Given the description of an element on the screen output the (x, y) to click on. 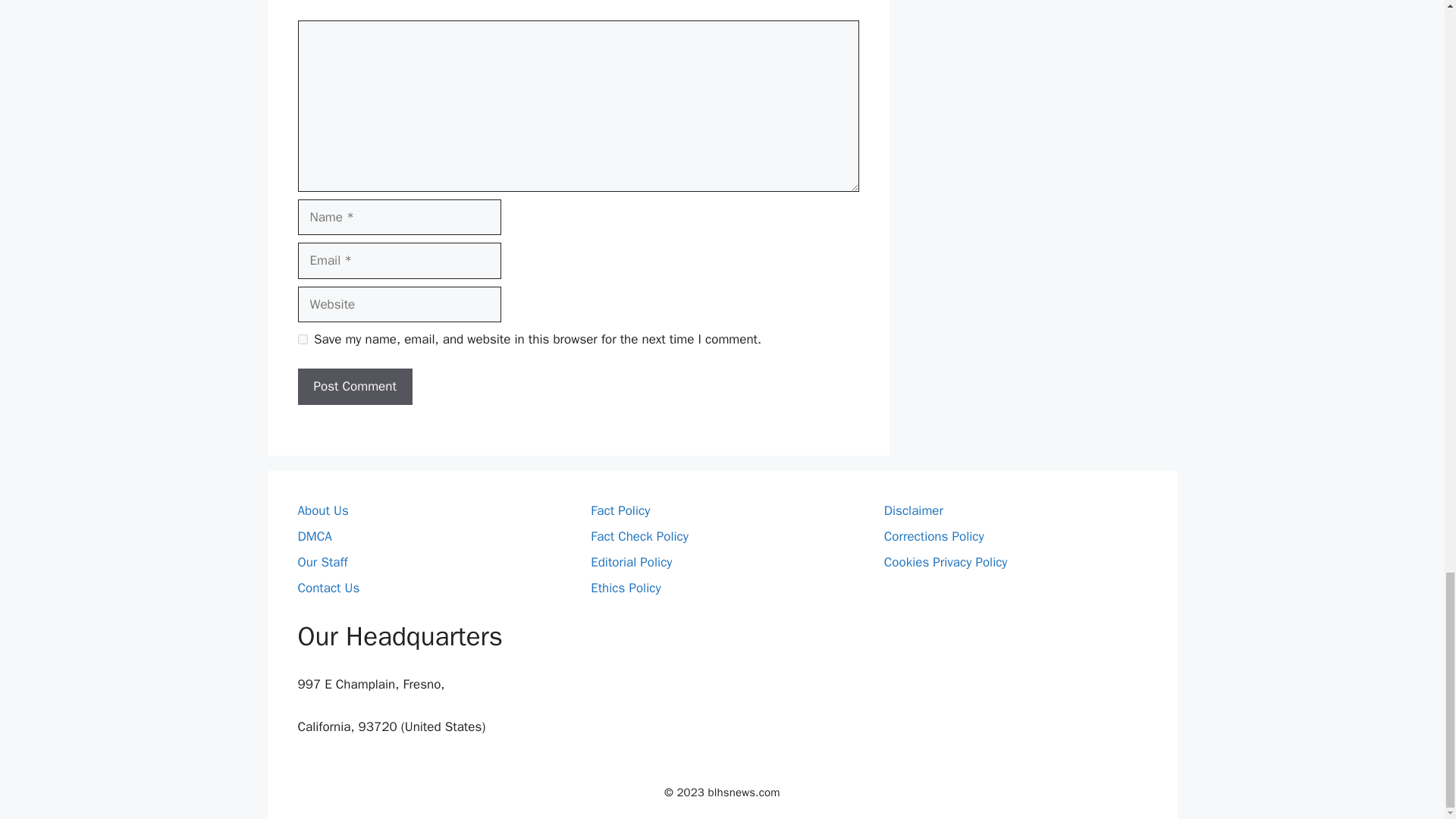
Fact Check Policy (639, 536)
Fact Policy (620, 510)
Editorial Policy (631, 562)
Ethics Policy (626, 587)
Contact Us (328, 587)
yes (302, 338)
DMCA (314, 536)
Post Comment (354, 386)
About Us (322, 510)
Post Comment (354, 386)
Disclaimer (913, 510)
Our Staff (322, 562)
